Given the description of an element on the screen output the (x, y) to click on. 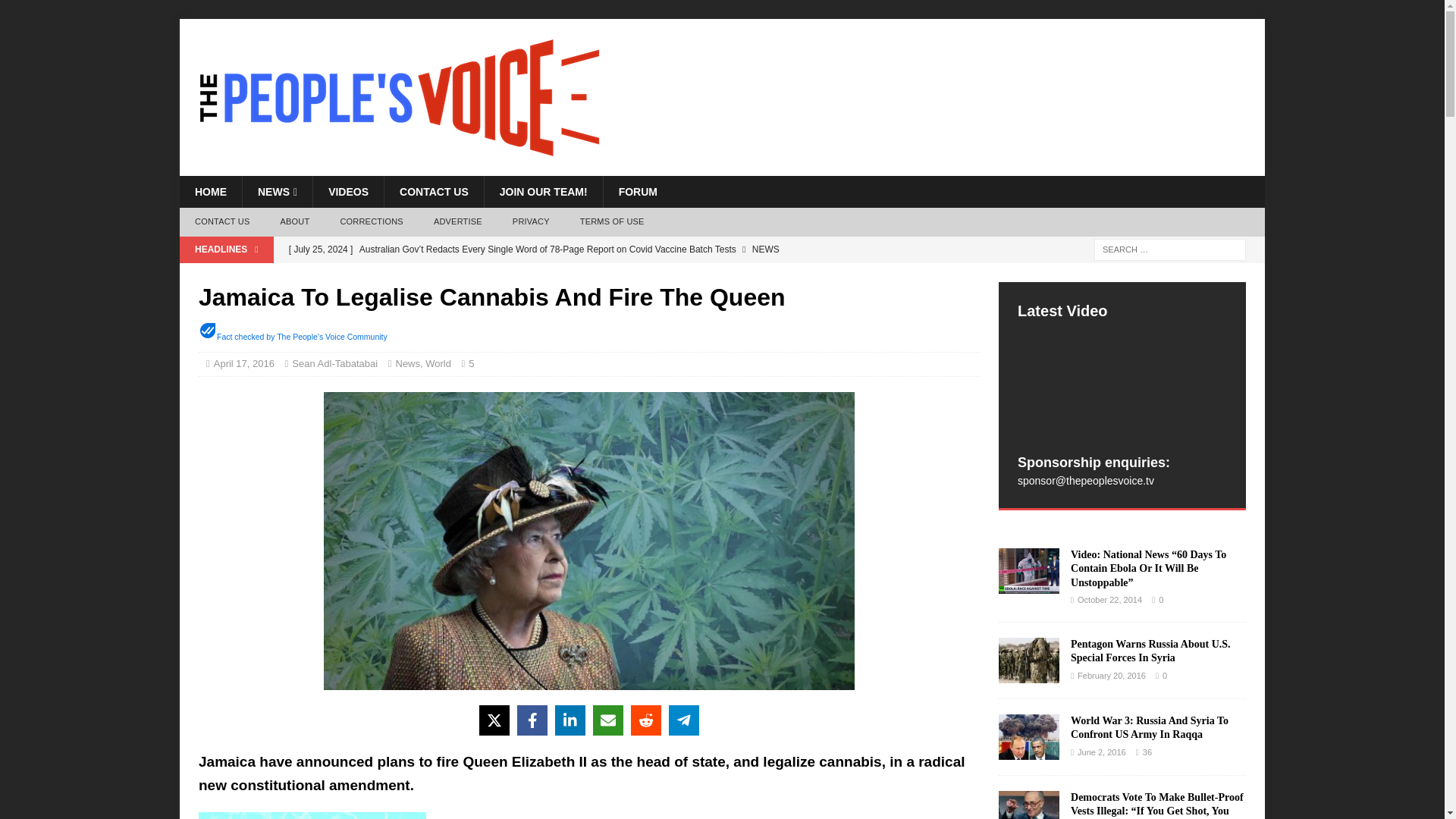
CONTACT US (221, 222)
ADVERTISE (458, 222)
JOIN OUR TEAM! (542, 192)
CONTACT US (433, 192)
NEWS (277, 192)
CORRECTIONS (370, 222)
TERMS OF USE (611, 222)
FORUM (637, 192)
HOME (210, 192)
VIDEOS (348, 192)
ABOUT (294, 222)
PRIVACY (530, 222)
